Given the description of an element on the screen output the (x, y) to click on. 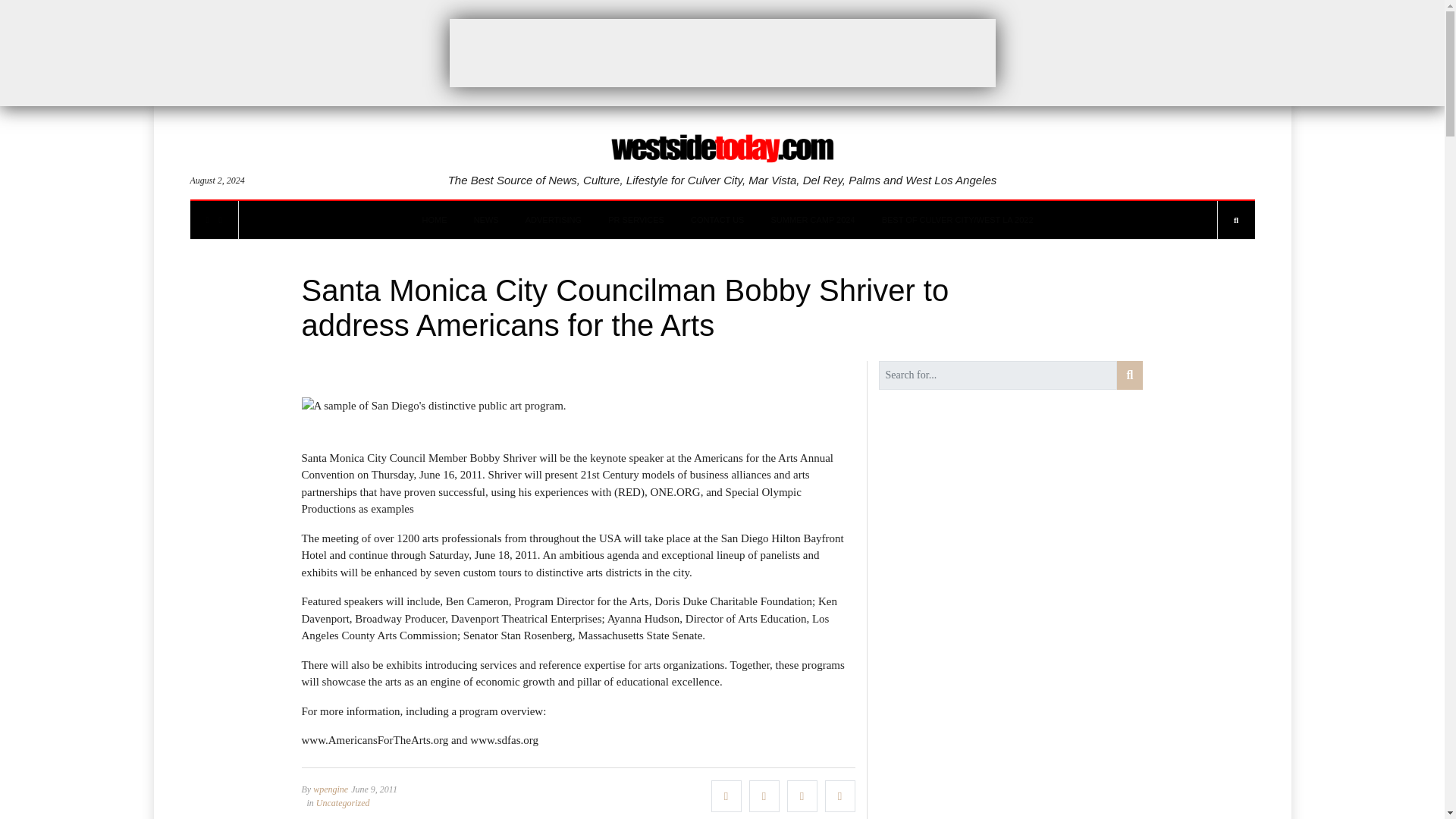
PR SERVICES (635, 219)
Posts by wpengine (330, 788)
3rd party ad content (721, 52)
ADVERTISING (552, 219)
wpengine (330, 788)
Uncategorized (342, 802)
SUMMER CAMP 2024 (813, 219)
CONTACT US (717, 219)
